Given the description of an element on the screen output the (x, y) to click on. 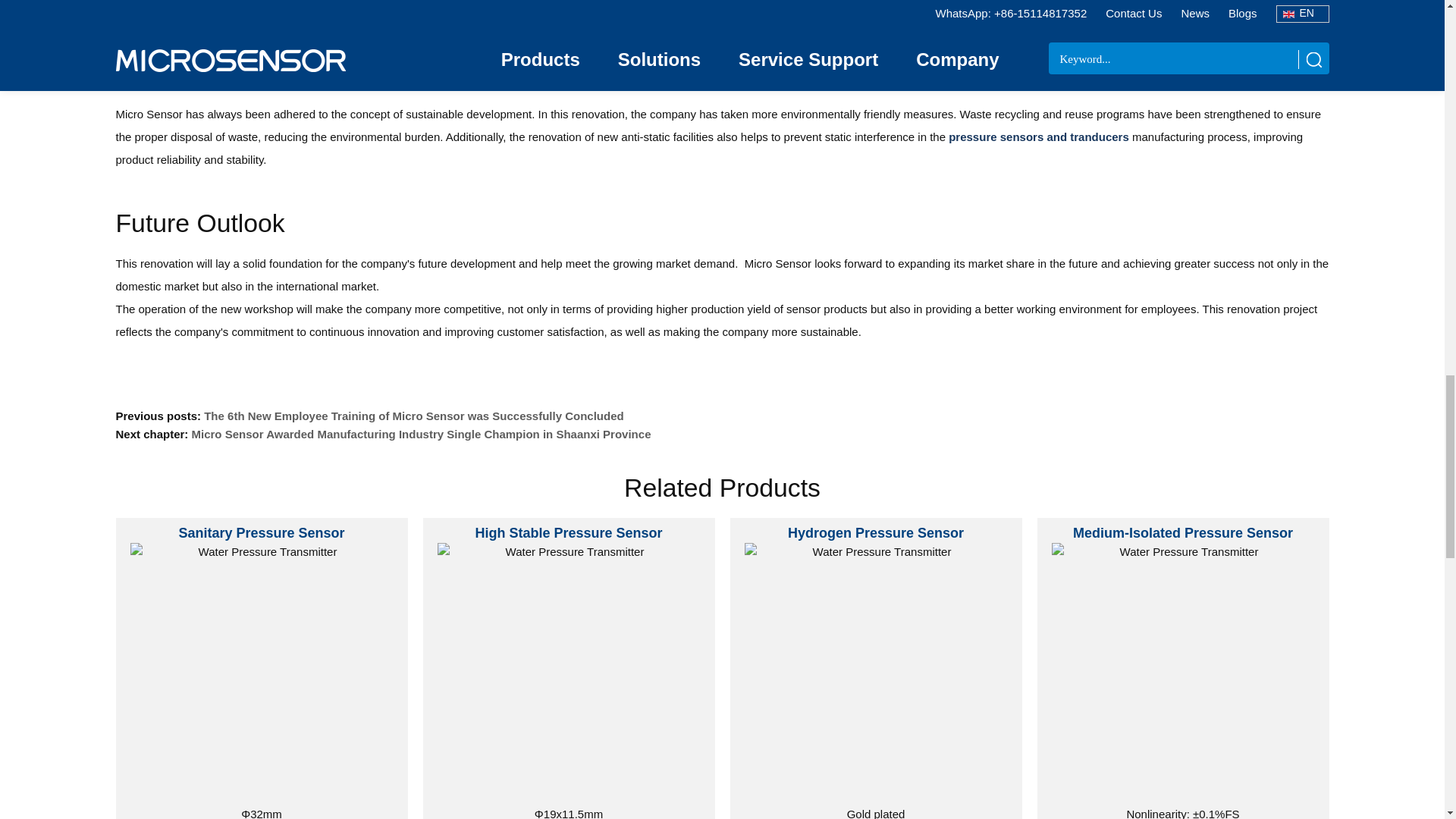
High Stable Pressure Sensor (569, 673)
Hydrogen Pressure Sensor (875, 673)
Medium-Isolated Pressure Sensor (1182, 673)
Sanitary Pressure Sensor (262, 673)
